Given the description of an element on the screen output the (x, y) to click on. 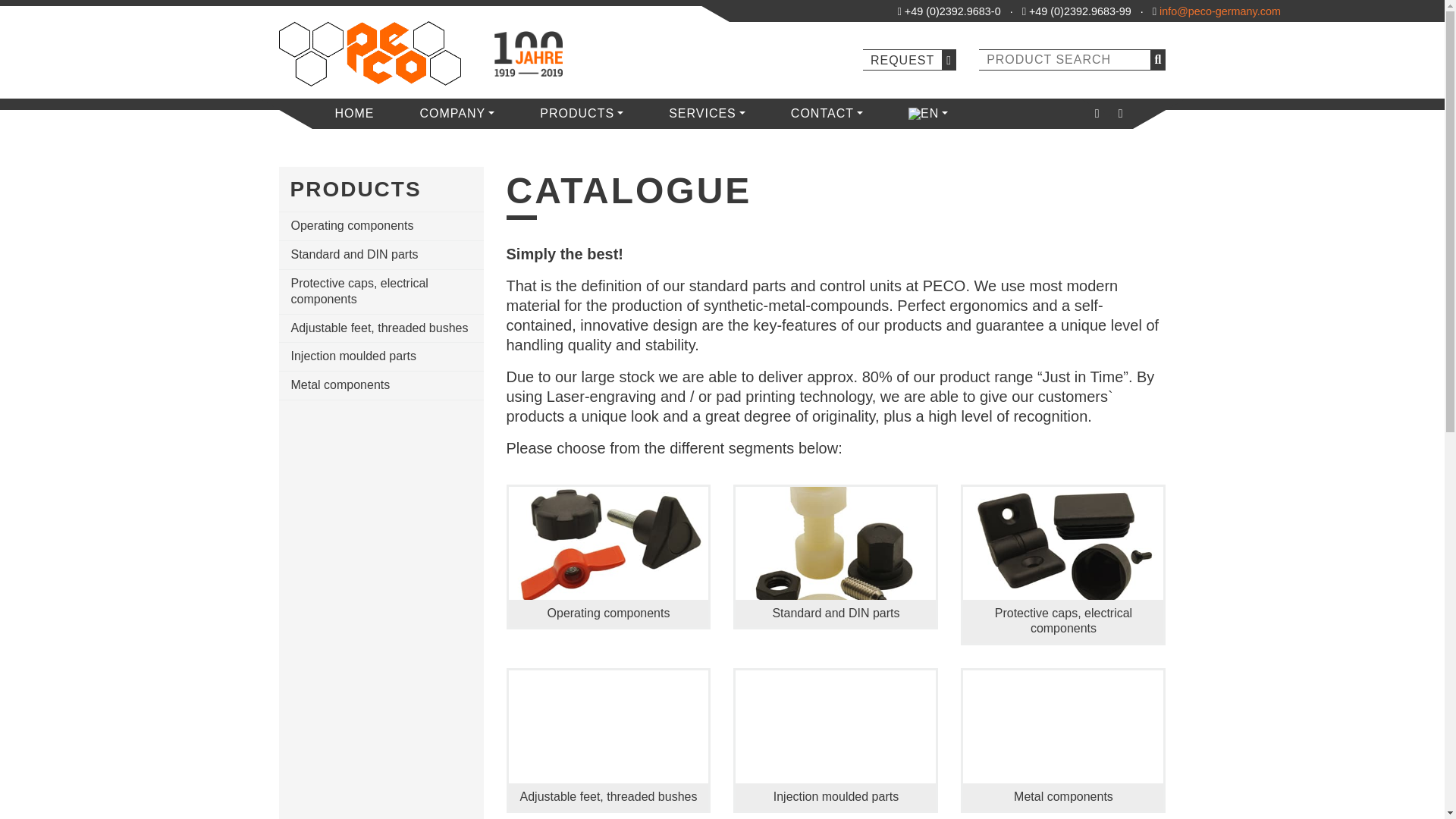
English (923, 113)
PRODUCTS (581, 113)
REQUEST (909, 59)
COMPANY (457, 113)
HOME (355, 113)
SERVICES (707, 113)
CONTACT (826, 113)
